Given the description of an element on the screen output the (x, y) to click on. 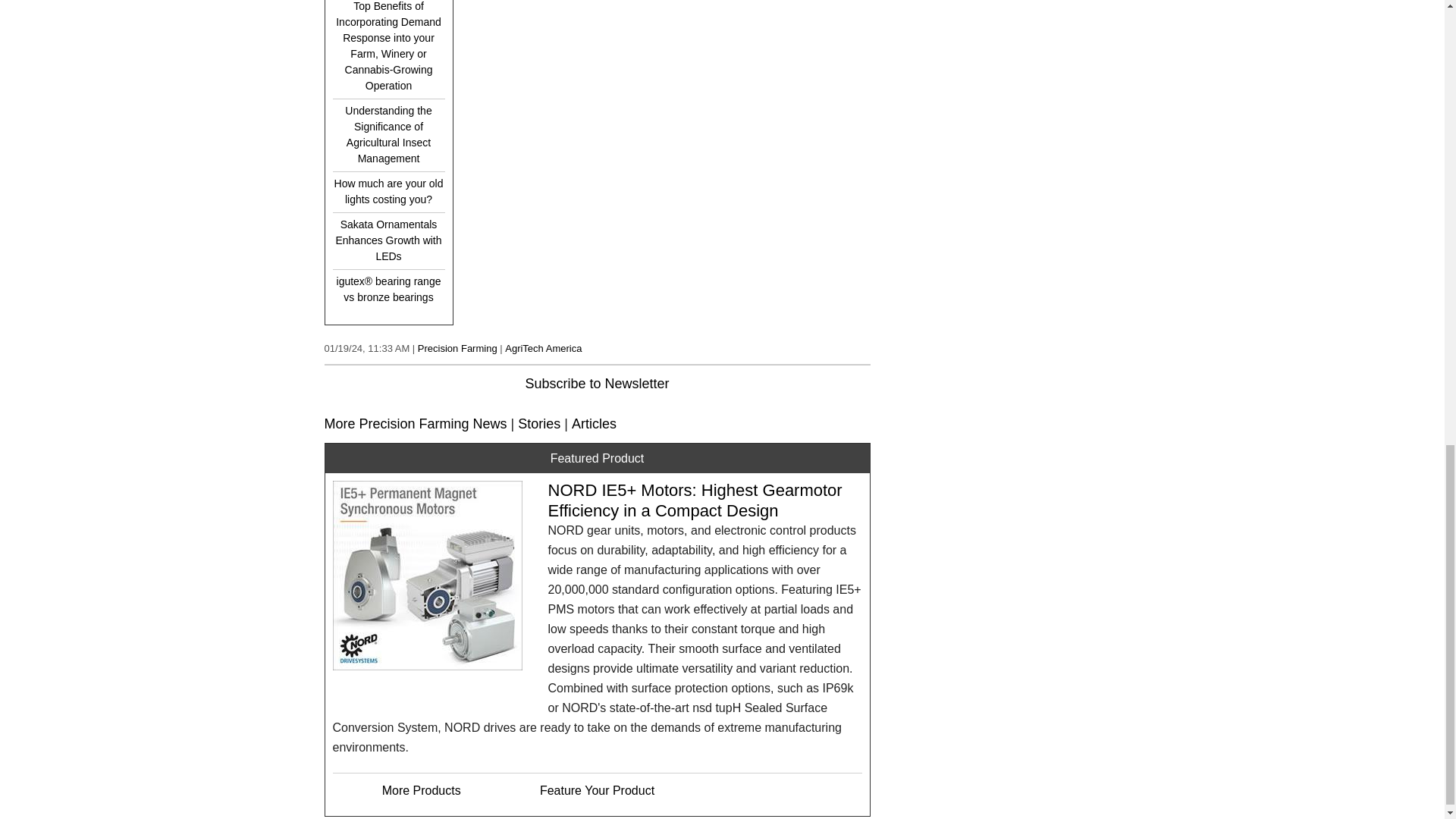
Sakata Ornamentals Enhances Growth with LEDs (387, 240)
How much are your old lights costing you? (387, 192)
Stories (539, 423)
Subscribe to Newsletter (596, 383)
More Precision Farming News (415, 423)
AgriTech America (542, 348)
Precision Farming (457, 348)
Articles (593, 423)
